Given the description of an element on the screen output the (x, y) to click on. 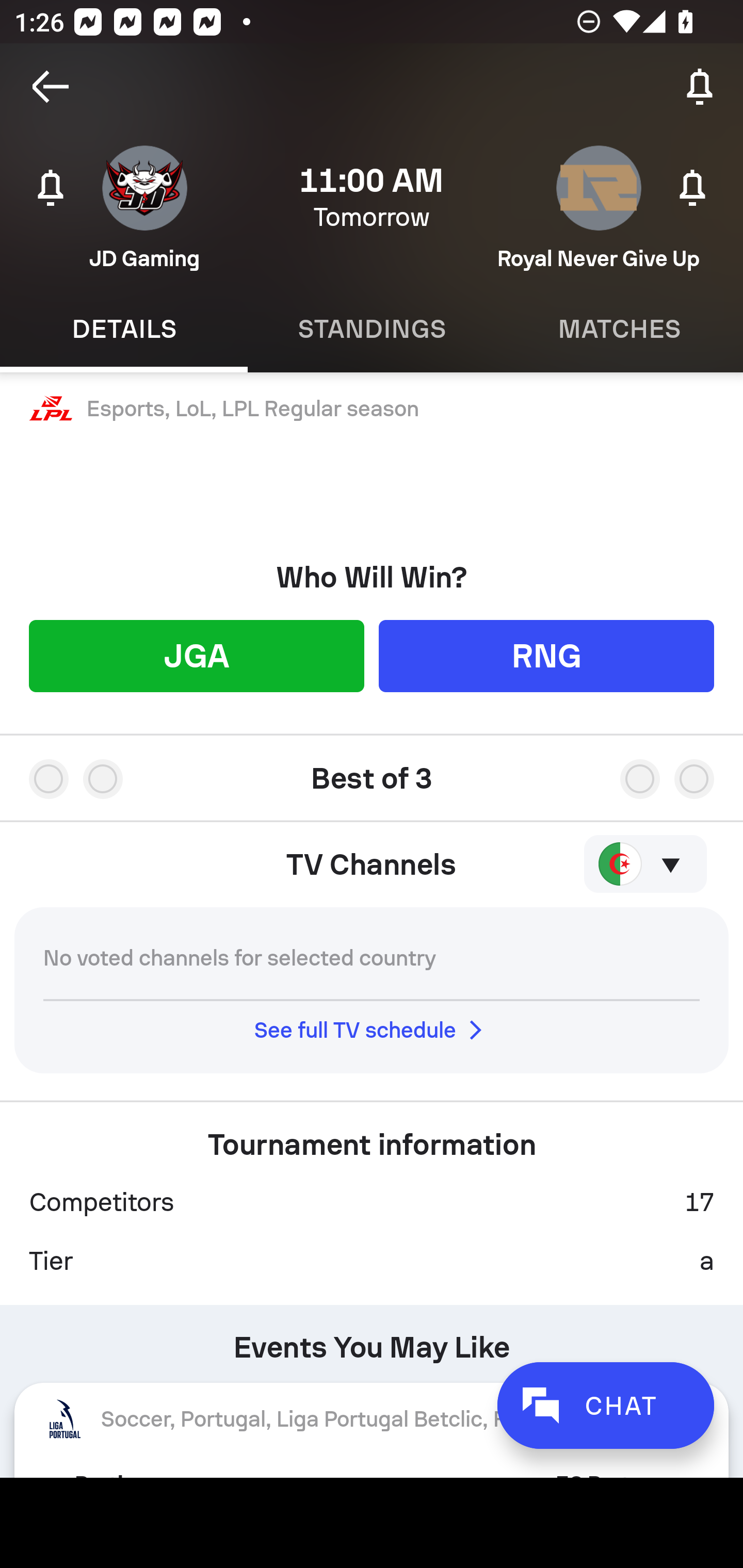
Navigate up (50, 86)
Standings STANDINGS (371, 329)
Matches MATCHES (619, 329)
Esports, LoL, LPL Regular season (371, 409)
JGA (196, 655)
RNG (546, 655)
Best of 3 (371, 771)
See full TV schedule (371, 1029)
Events You May Like (371, 1339)
CHAT (605, 1405)
